Given the description of an element on the screen output the (x, y) to click on. 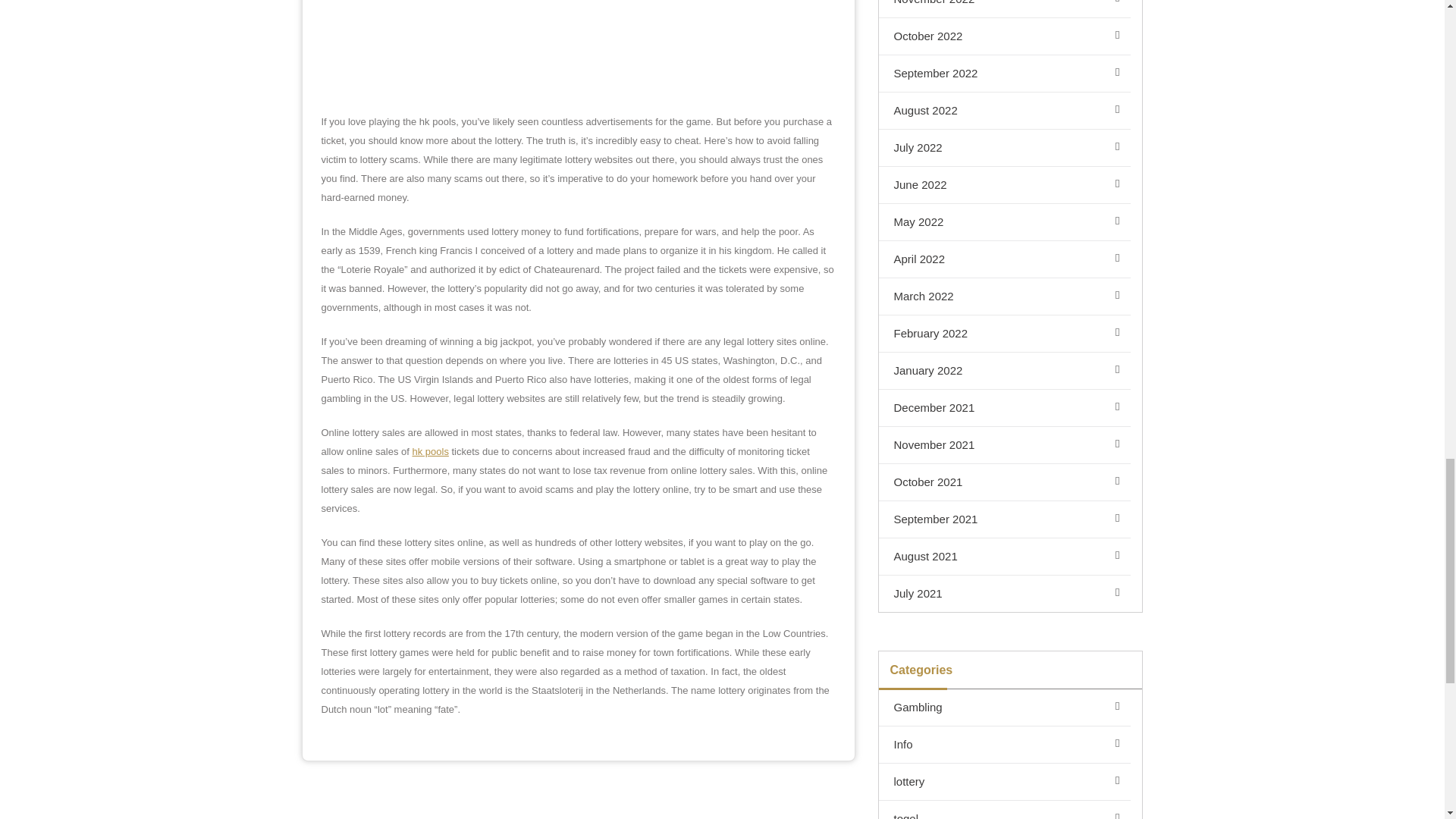
hk pools (430, 451)
